Given the description of an element on the screen output the (x, y) to click on. 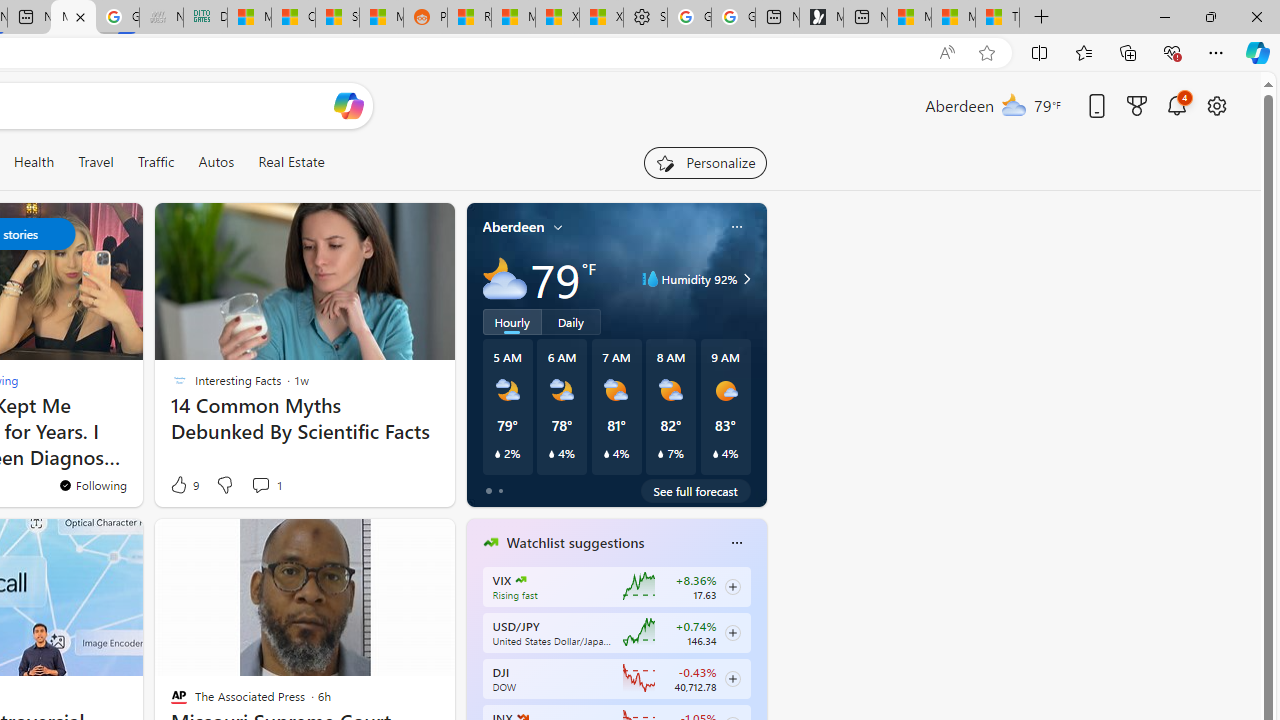
Class: icon-img (736, 542)
Traffic (155, 162)
MSNBC - MSN (249, 17)
Humidity 92% (744, 278)
Hourly (511, 321)
Travel (95, 162)
You're following Newsweek (92, 485)
My location (558, 227)
